Given the description of an element on the screen output the (x, y) to click on. 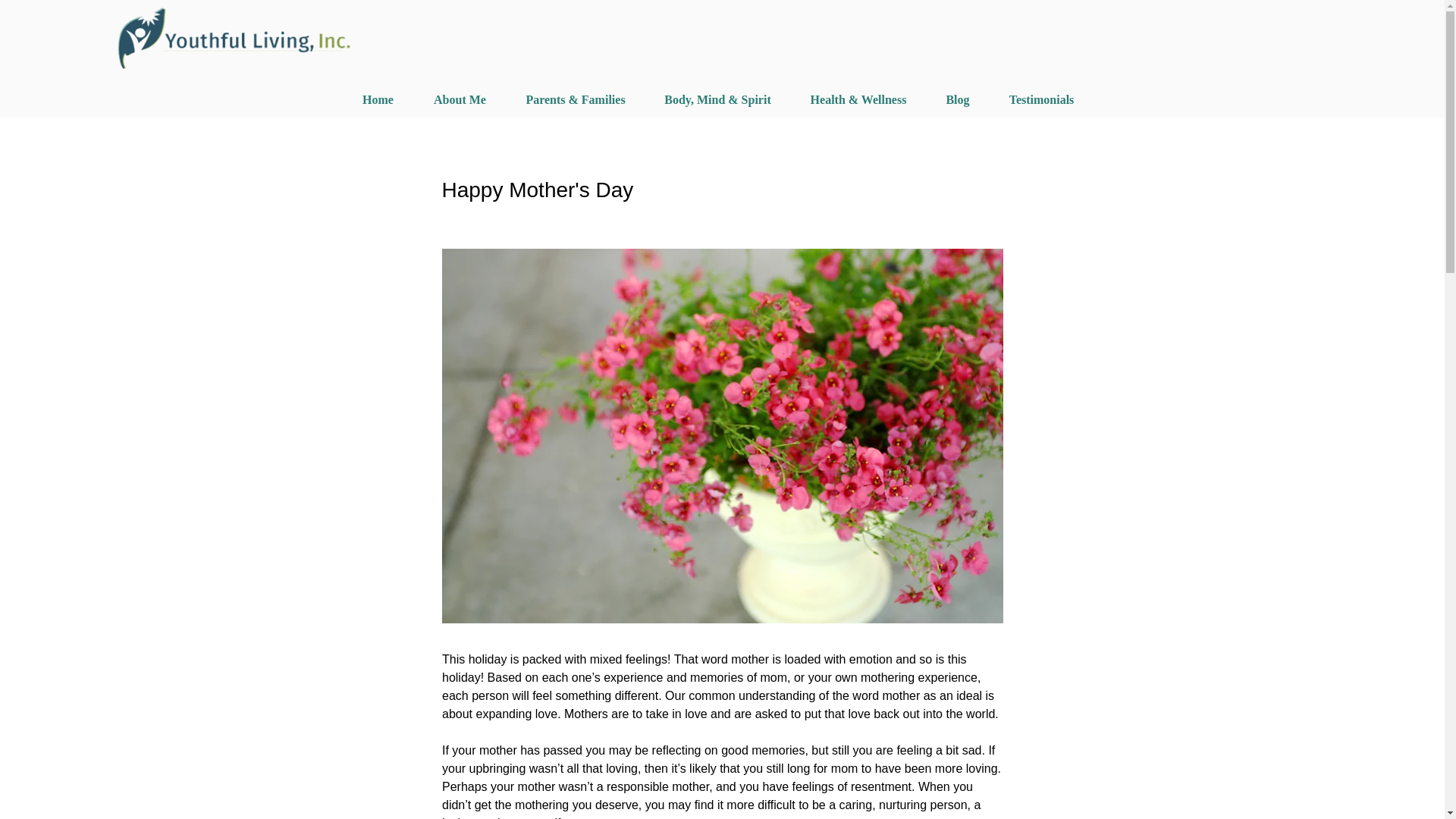
About Me (459, 99)
Home (377, 99)
Testimonials (1040, 99)
Blog (958, 99)
